Given the description of an element on the screen output the (x, y) to click on. 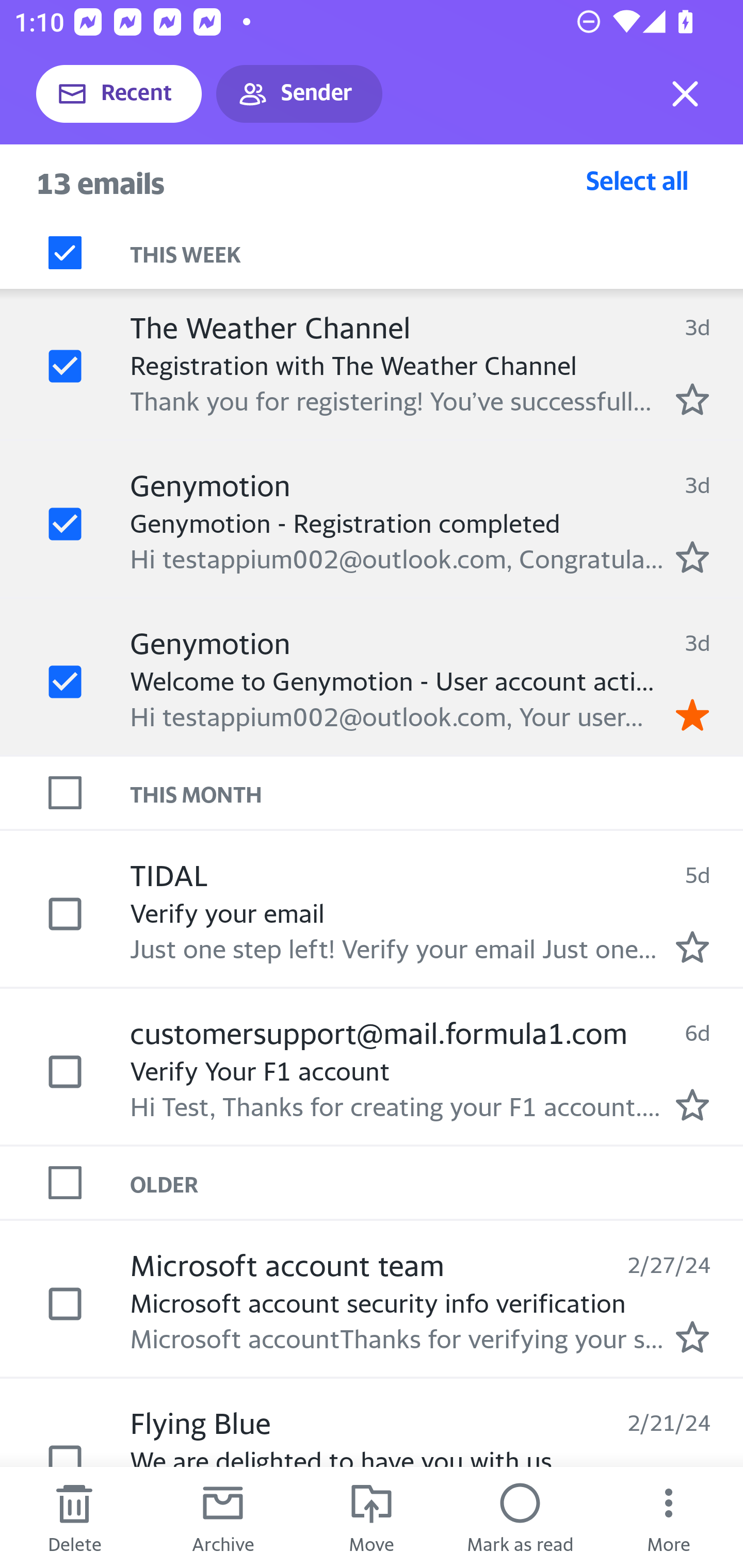
Sender (299, 93)
Exit selection mode (684, 93)
Select all (637, 180)
Mark as starred. (692, 399)
Mark as starred. (692, 557)
Remove star. (692, 714)
THIS MONTH (436, 792)
Mark as starred. (692, 946)
Mark as starred. (692, 1104)
OLDER (436, 1182)
Mark as starred. (692, 1336)
Delete (74, 1517)
Archive (222, 1517)
Move (371, 1517)
Mark as read (519, 1517)
More (668, 1517)
